Given the description of an element on the screen output the (x, y) to click on. 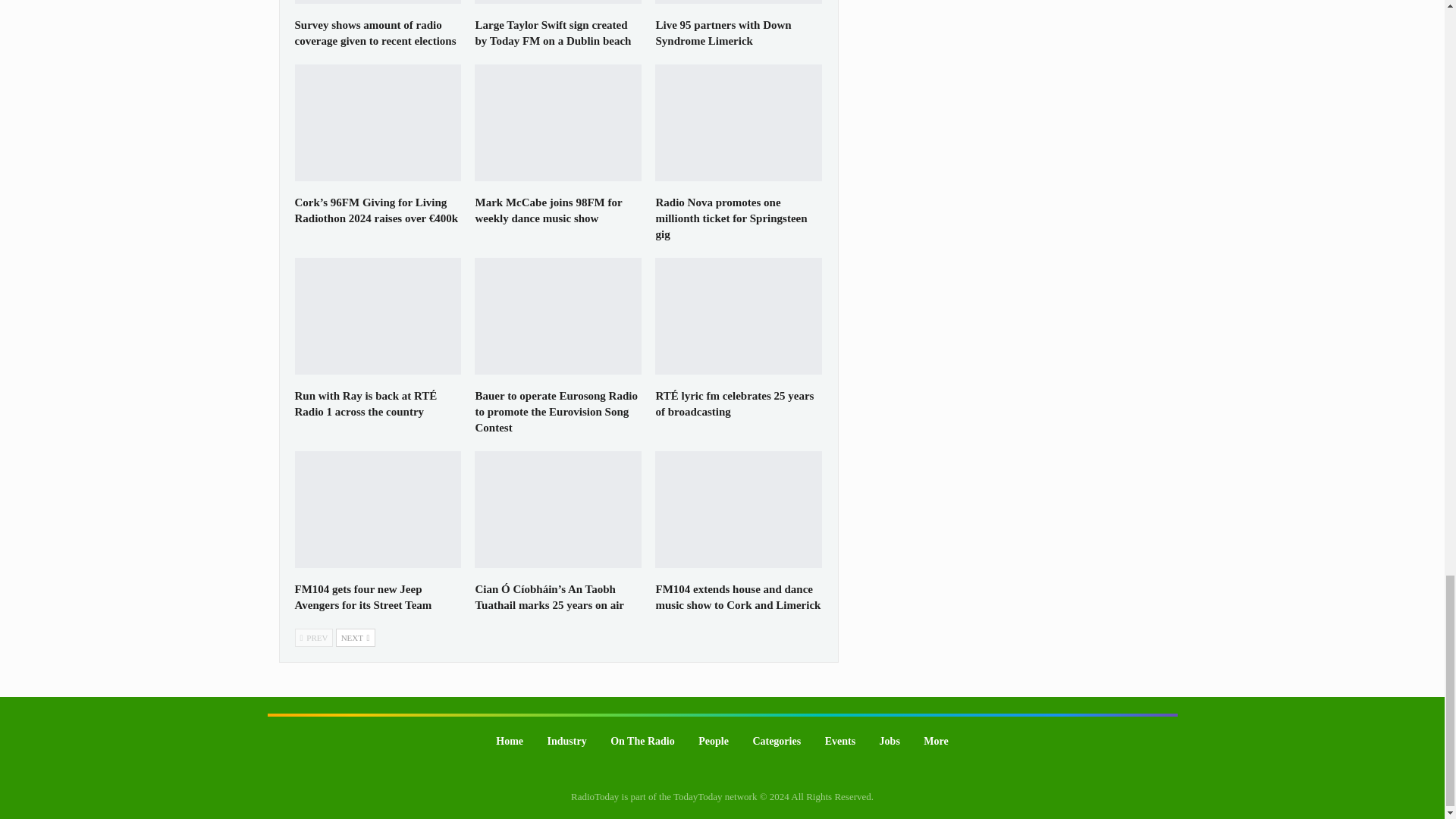
Mark McCabe joins 98FM for weekly dance music show (547, 210)
Mark McCabe joins 98FM for weekly dance music show (558, 122)
Live 95 partners with Down Syndrome Limerick (738, 2)
Live 95 partners with Down Syndrome Limerick (722, 32)
Radio Nova promotes one millionth ticket for Springsteen gig (738, 122)
Radio Nova promotes one millionth ticket for Springsteen gig (730, 218)
